Given the description of an element on the screen output the (x, y) to click on. 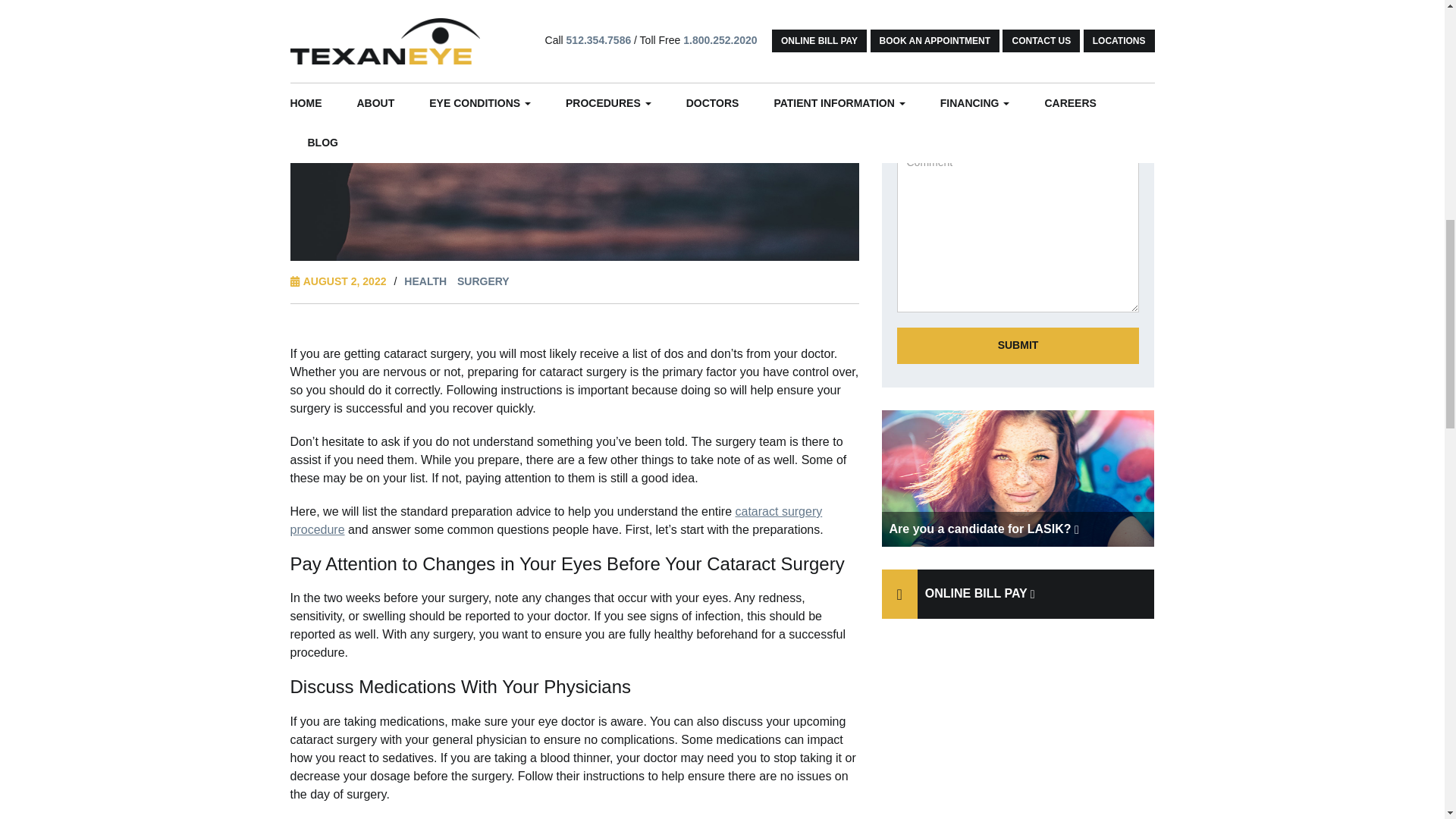
Submit (1017, 345)
